Given the description of an element on the screen output the (x, y) to click on. 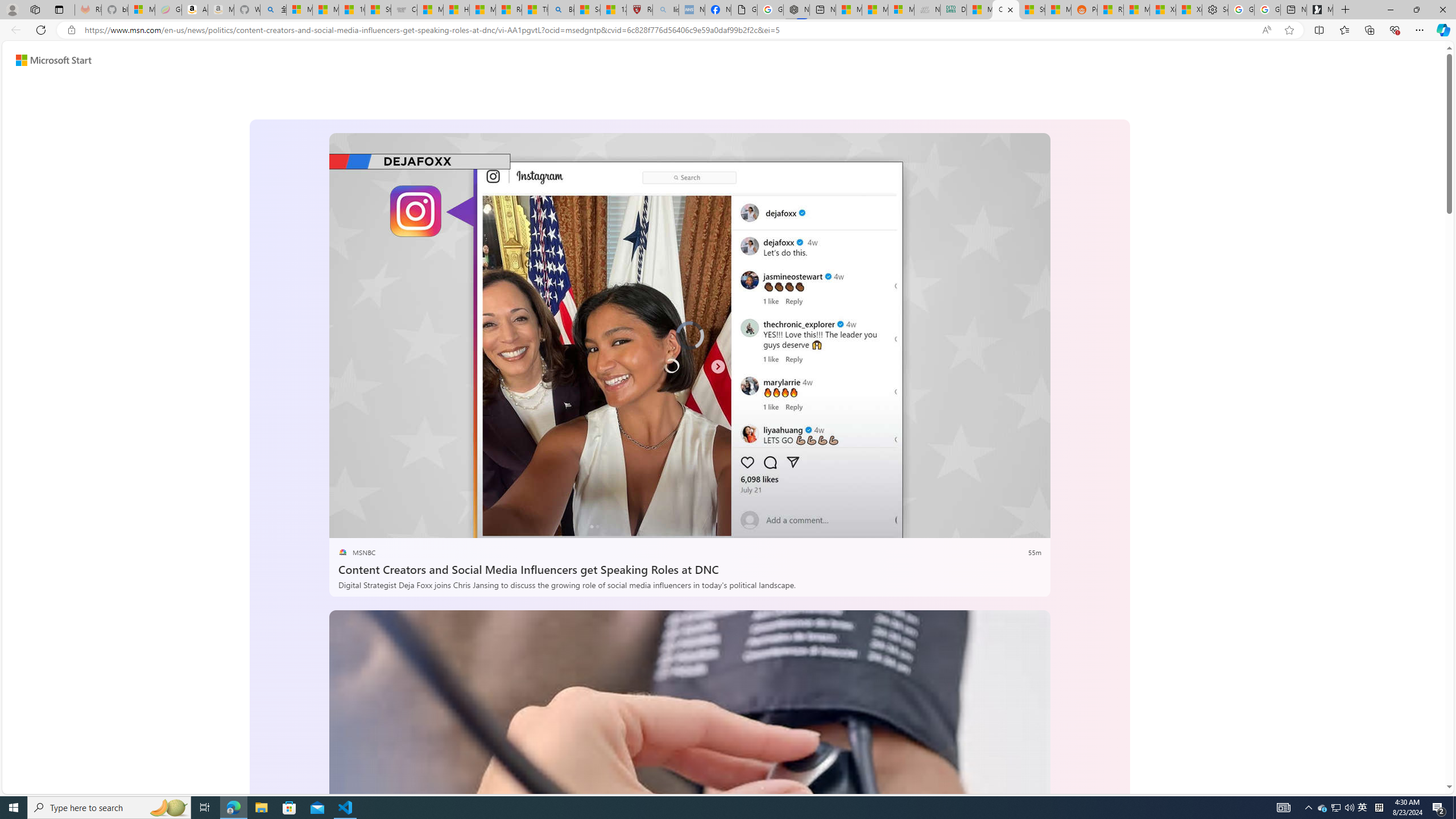
Google Analytics Opt-out Browser Add-on Download Page (743, 9)
Seek Back (368, 525)
Unmute (1033, 524)
